Given the description of an element on the screen output the (x, y) to click on. 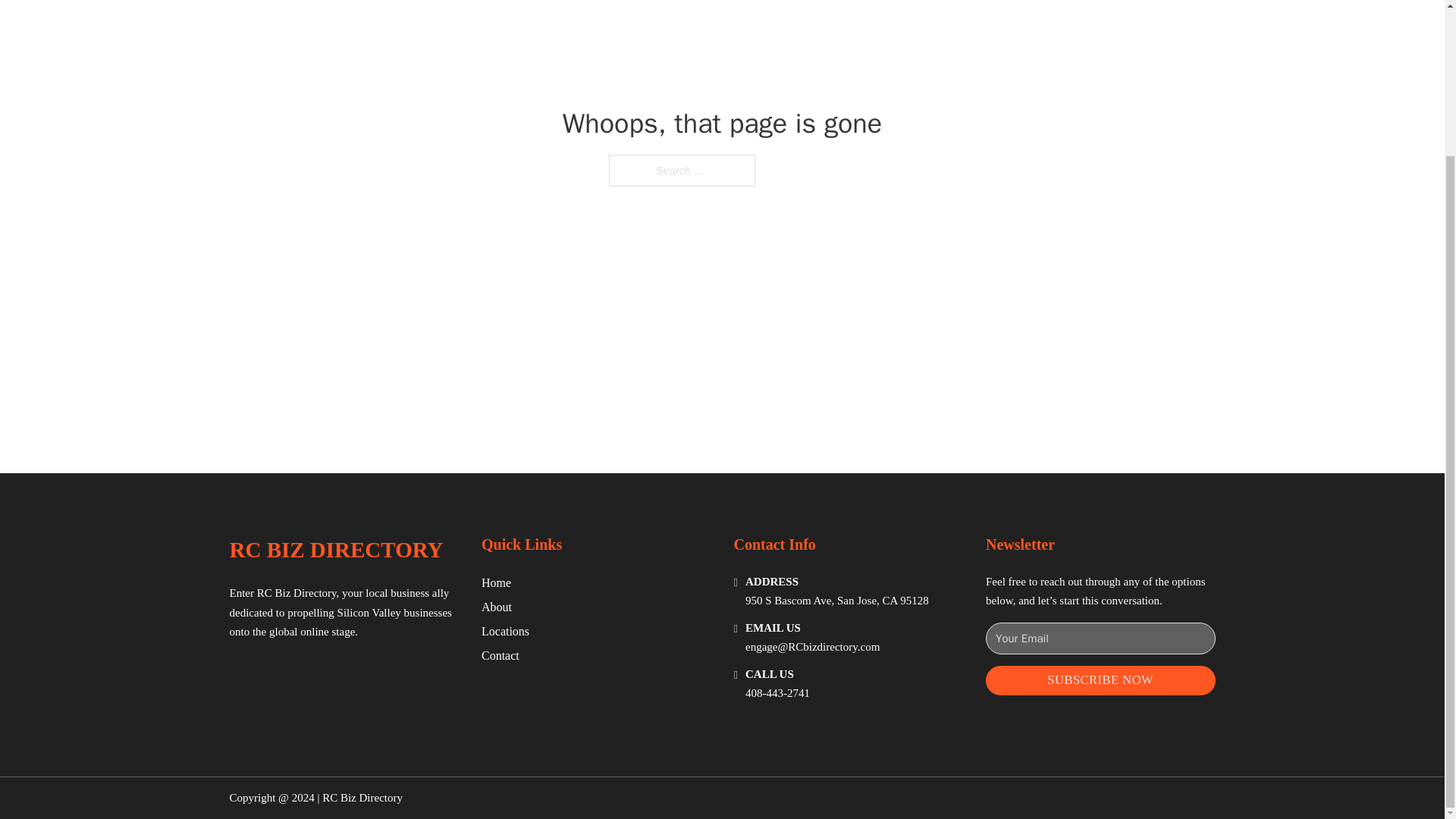
Contact (500, 655)
Home (496, 582)
About (496, 607)
SUBSCRIBE NOW (1100, 680)
Locations (505, 630)
408-443-2741 (777, 693)
RC BIZ DIRECTORY (335, 549)
